Given the description of an element on the screen output the (x, y) to click on. 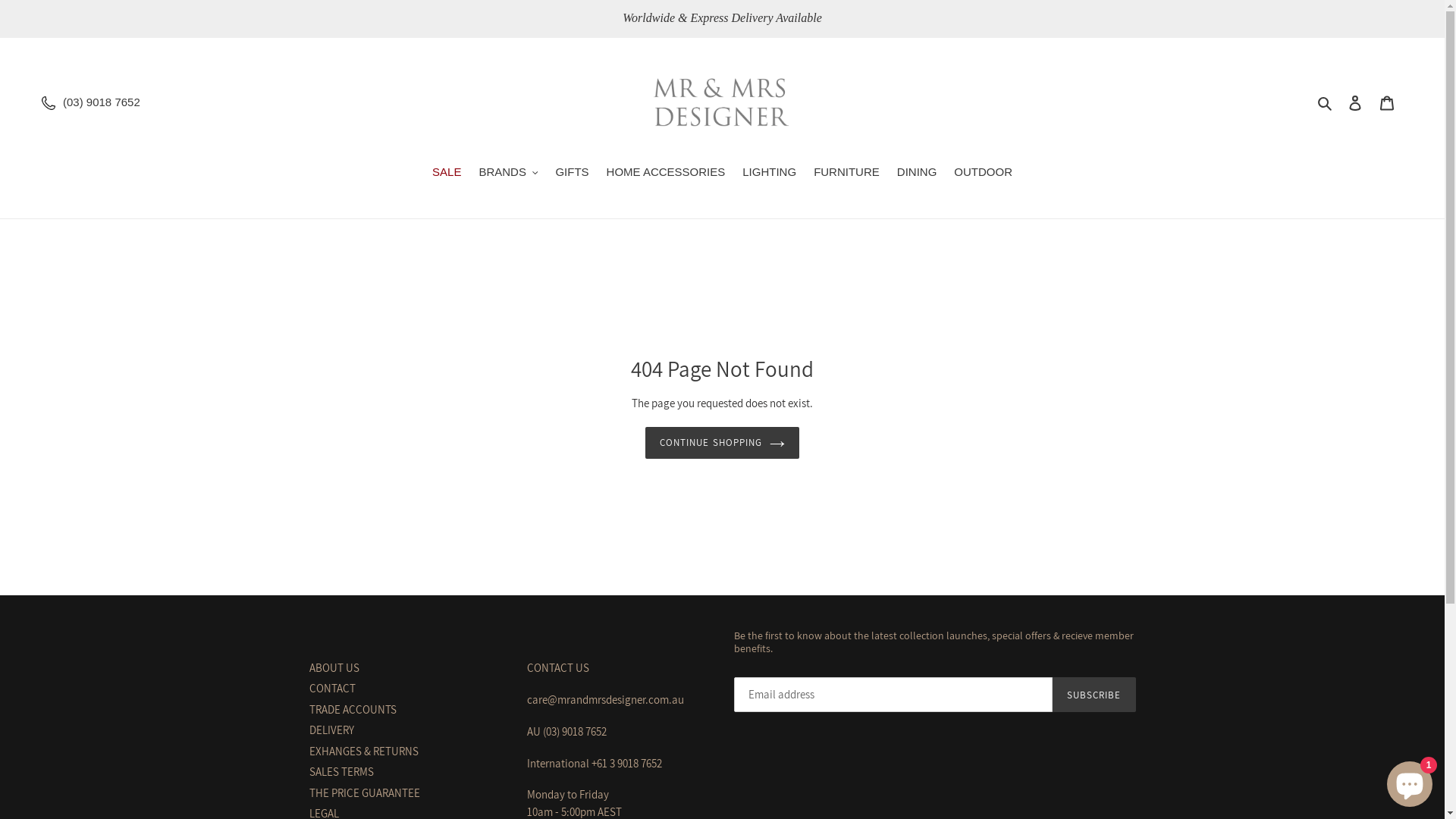
Log in Element type: text (1355, 102)
DELIVERY Element type: text (331, 729)
EXHANGES & RETURNS Element type: text (363, 750)
FURNITURE Element type: text (846, 173)
Search Element type: text (1325, 102)
THE PRICE GUARANTEE Element type: text (364, 792)
SALES TERMS Element type: text (341, 771)
CONTACT Element type: text (332, 687)
SUBSCRIBE Element type: text (1093, 694)
HOME ACCESSORIES Element type: text (666, 173)
DINING Element type: text (916, 173)
ABOUT US Element type: text (334, 667)
(03) 9018 7652 Element type: text (101, 101)
CONTINUE SHOPPING Element type: text (722, 442)
SALE Element type: text (446, 173)
TRADE ACCOUNTS Element type: text (352, 709)
GIFTS Element type: text (571, 173)
OUTDOOR Element type: text (982, 173)
BRANDS Element type: text (507, 173)
Shopify online store chat Element type: hover (1409, 780)
LIGHTING Element type: text (768, 173)
Cart Element type: text (1386, 102)
